Given the description of an element on the screen output the (x, y) to click on. 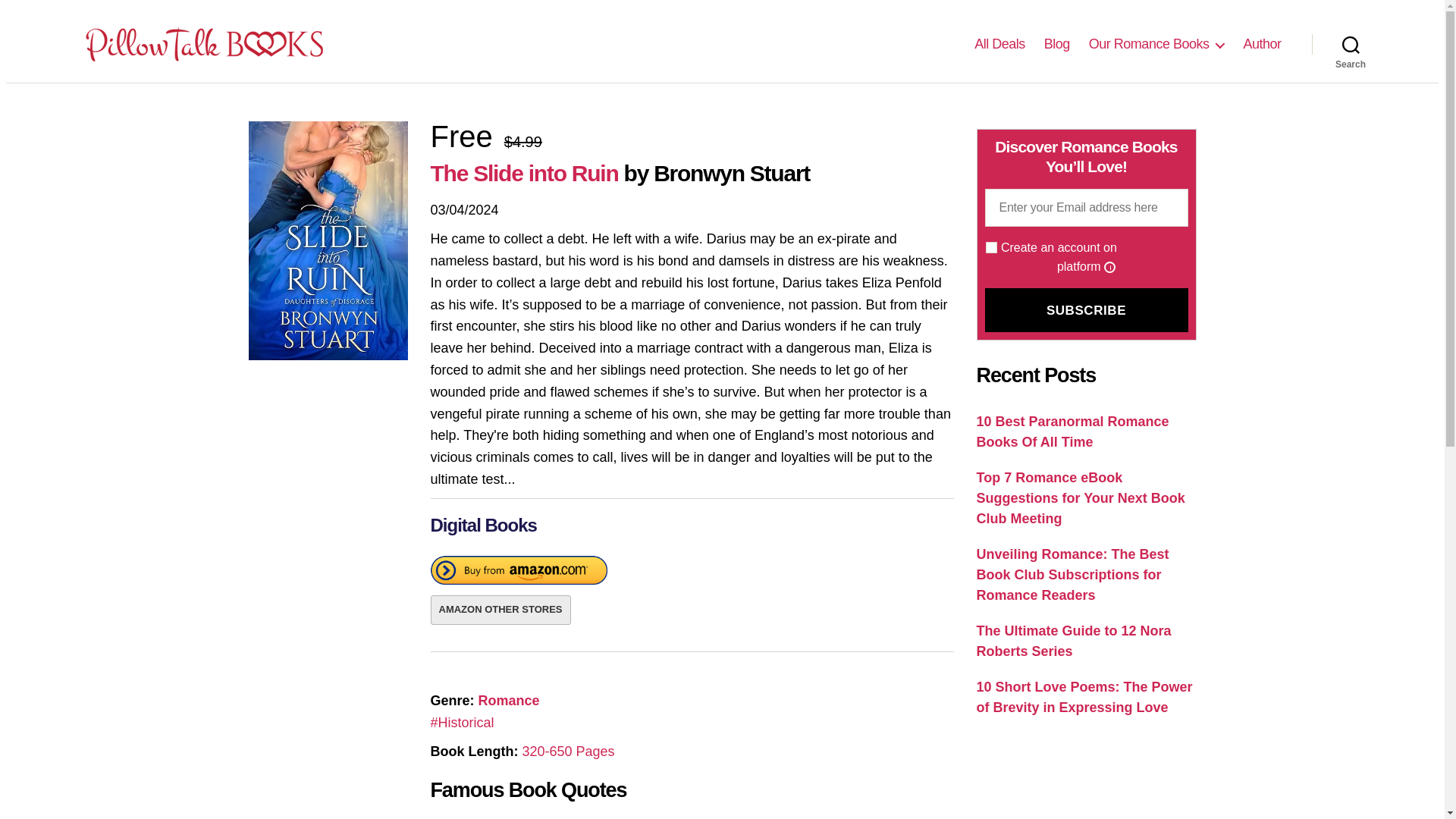
Subscribe (1086, 310)
All Deals (999, 44)
Search (1350, 43)
Amazon (518, 573)
Our Romance Books (1156, 44)
Blog (1056, 44)
Author (1262, 44)
true (991, 247)
